Given the description of an element on the screen output the (x, y) to click on. 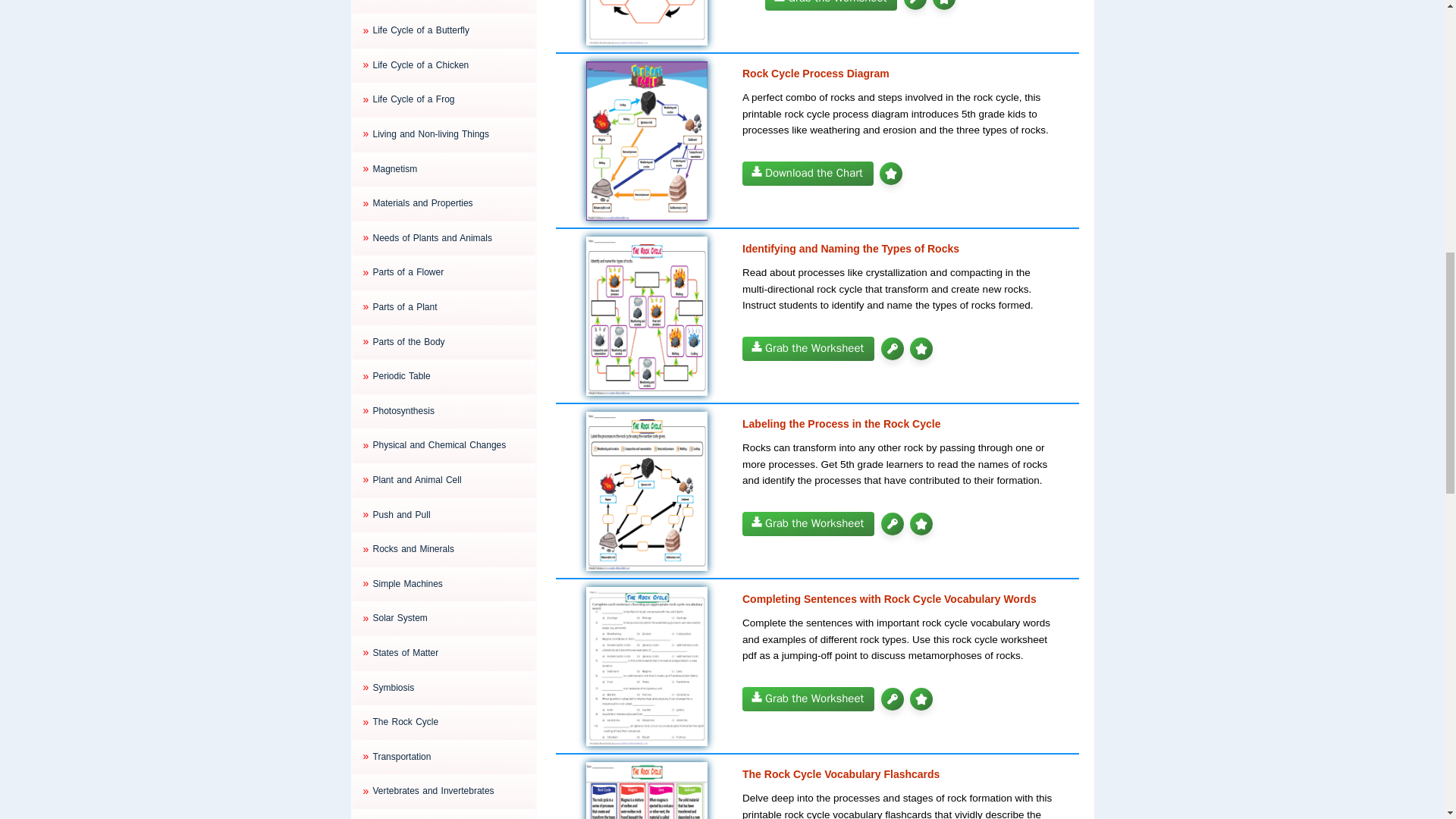
Life Cycle of a Frog Worksheets (447, 99)
Living and Non-living Things Worksheets (447, 134)
Landforms and Bodies of Water (447, 7)
Life Cycle of a Butterfly Worksheets (447, 30)
Landforms and Bodies of Water Worksheets (447, 7)
Life Cycle of a Chicken (447, 65)
Life Cycle of a Frog (447, 99)
Life Cycle of a Chicken Worksheets (447, 65)
Life Cycle of a Butterfly (447, 30)
